Given the description of an element on the screen output the (x, y) to click on. 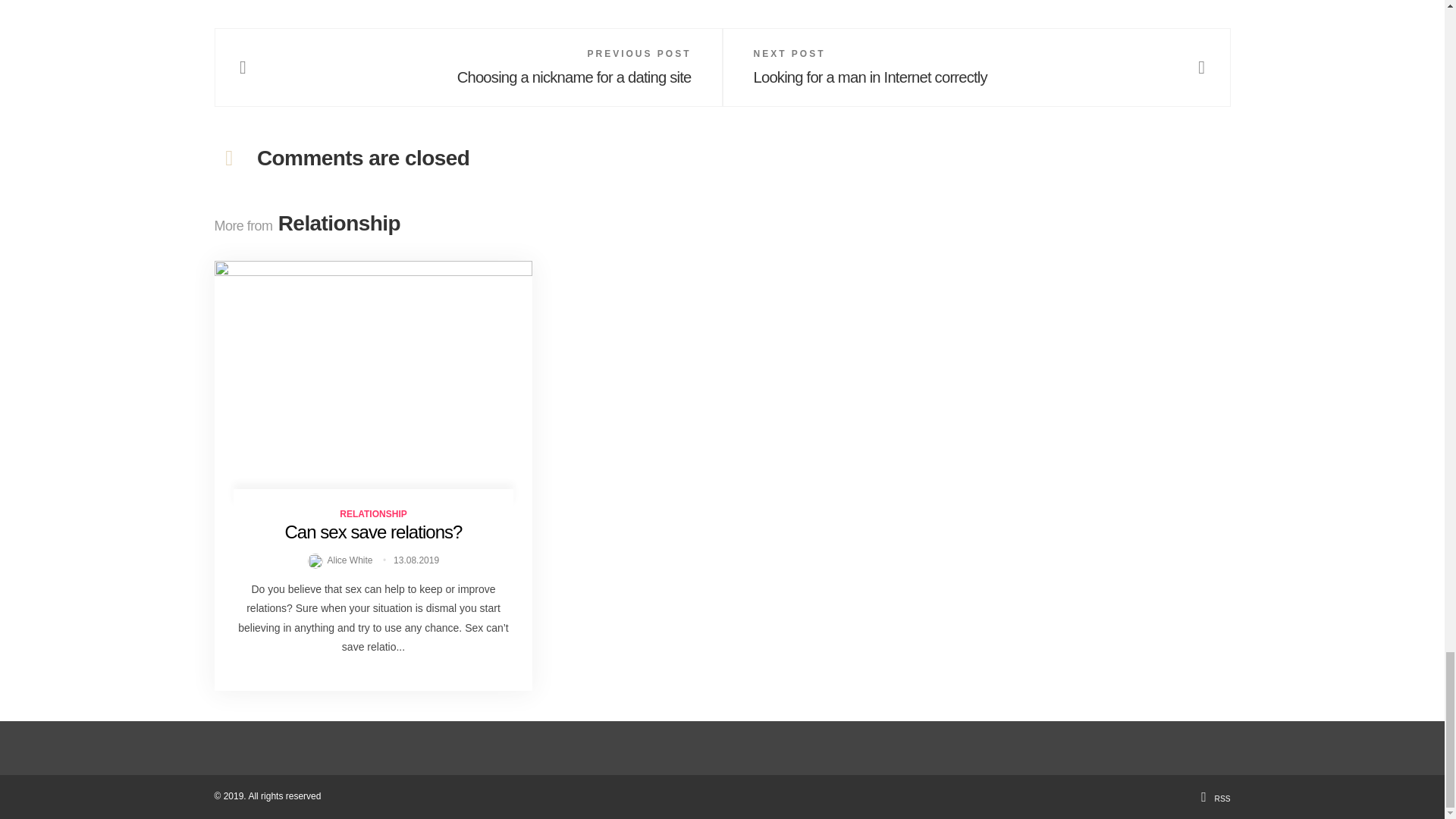
13.08.2019 (416, 560)
Can sex save relations? (372, 531)
Alice White (341, 560)
RELATIONSHIP (372, 513)
Can sex save relations? (372, 531)
